Given the description of an element on the screen output the (x, y) to click on. 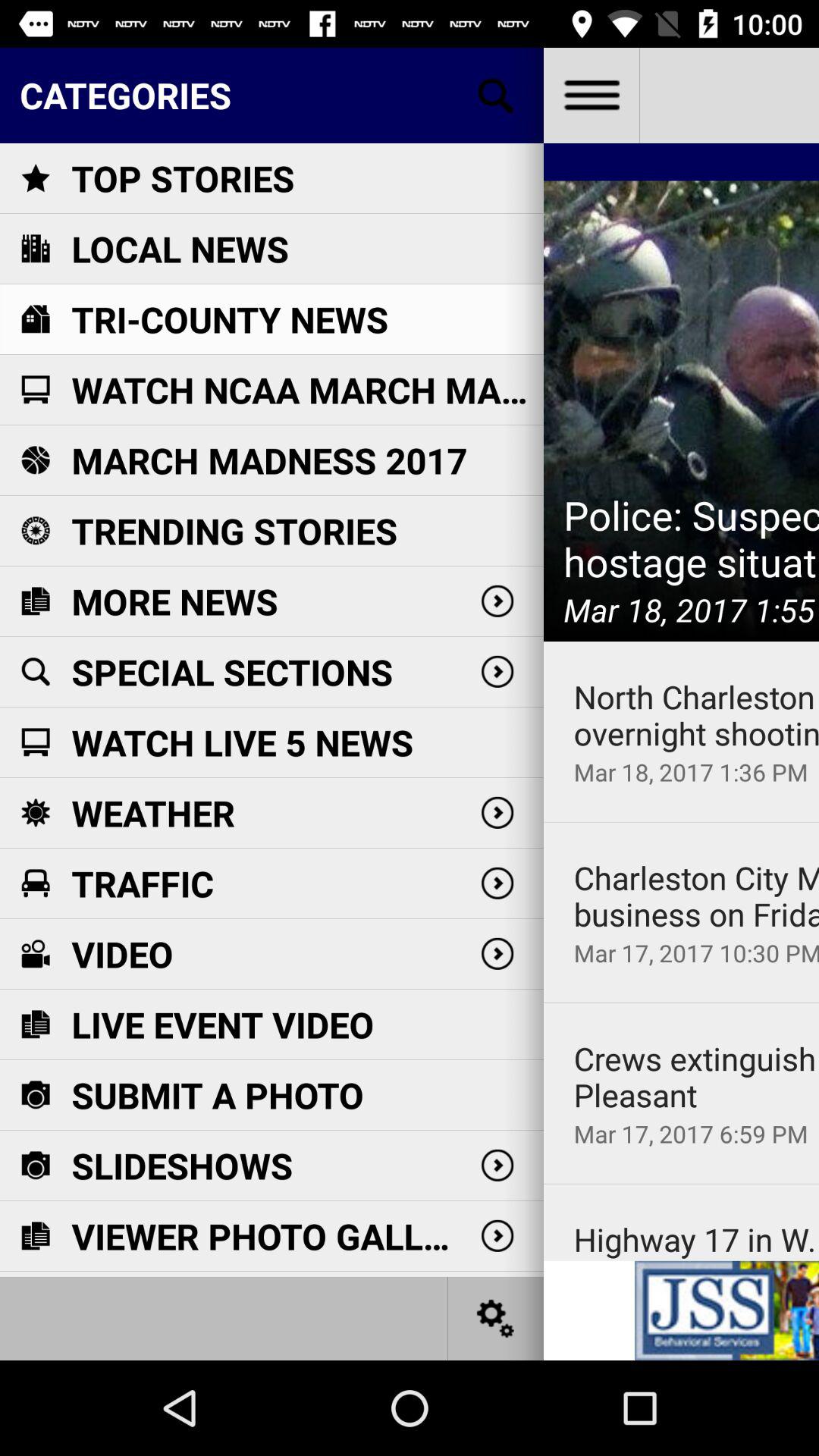
turn off the item to the right of the categories (591, 95)
